Given the description of an element on the screen output the (x, y) to click on. 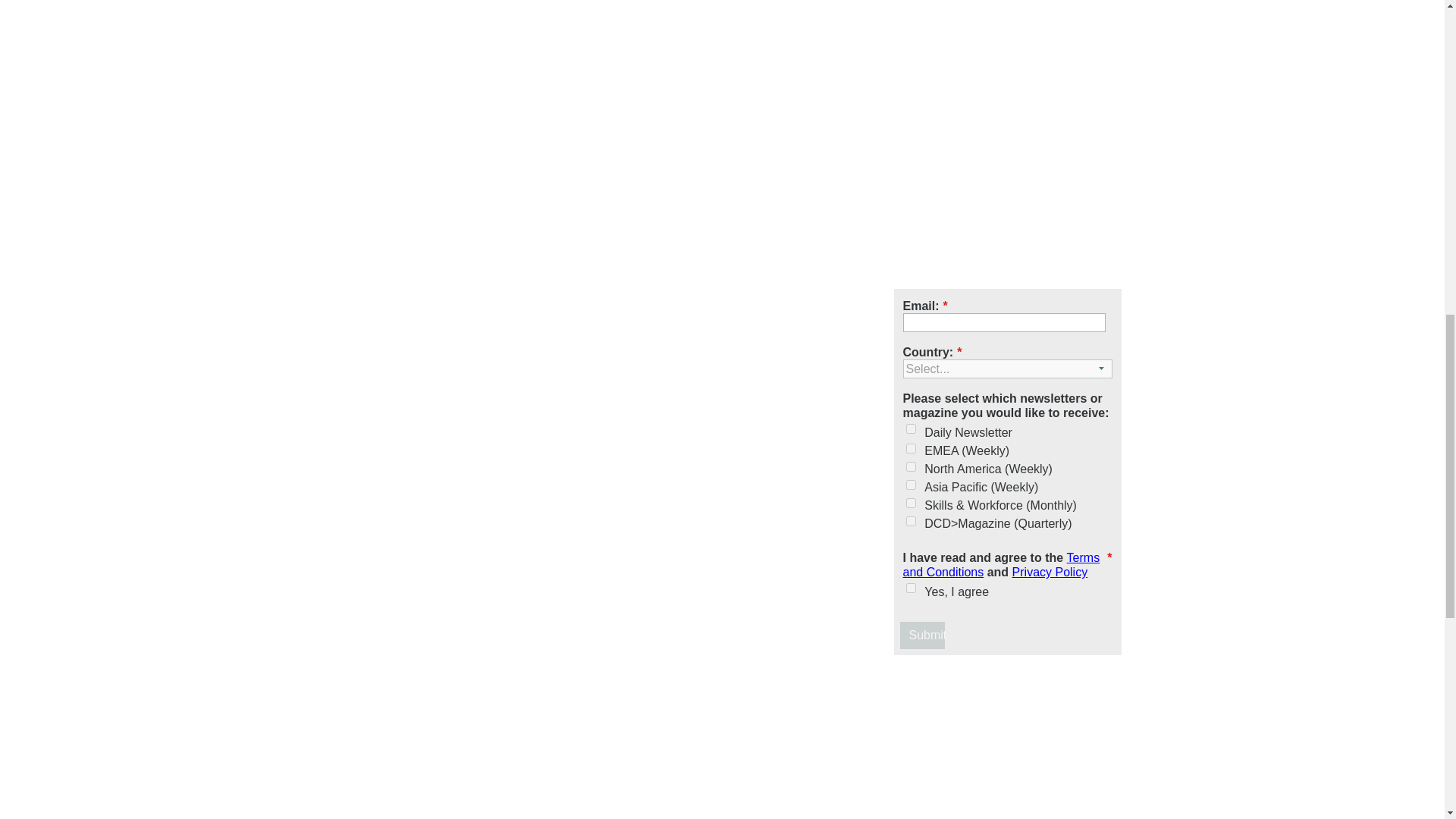
Fortnightly Asia newsletter (910, 484)
Daily global newsletter (910, 429)
Weekly EMEA newsletter (910, 448)
Weekly North American newsletter (910, 466)
DMAG (910, 521)
yes (910, 587)
NLWOS (910, 502)
